Given the description of an element on the screen output the (x, y) to click on. 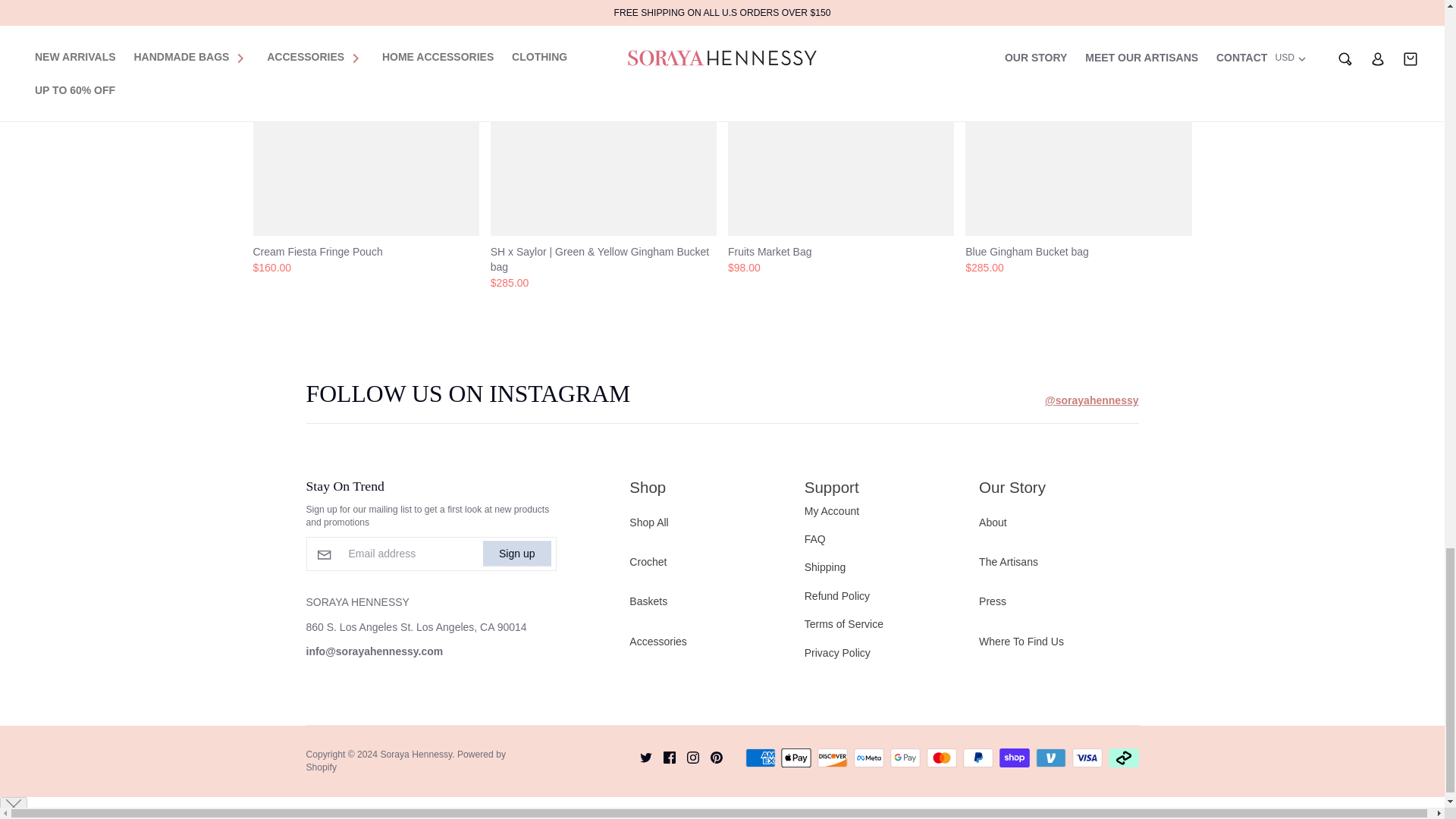
Pinterest (710, 756)
Instagram (686, 756)
Meta Pay (868, 757)
American Express (760, 757)
Twitter (638, 756)
Discover (831, 757)
Facebook (663, 756)
Apple Pay (795, 757)
